Given the description of an element on the screen output the (x, y) to click on. 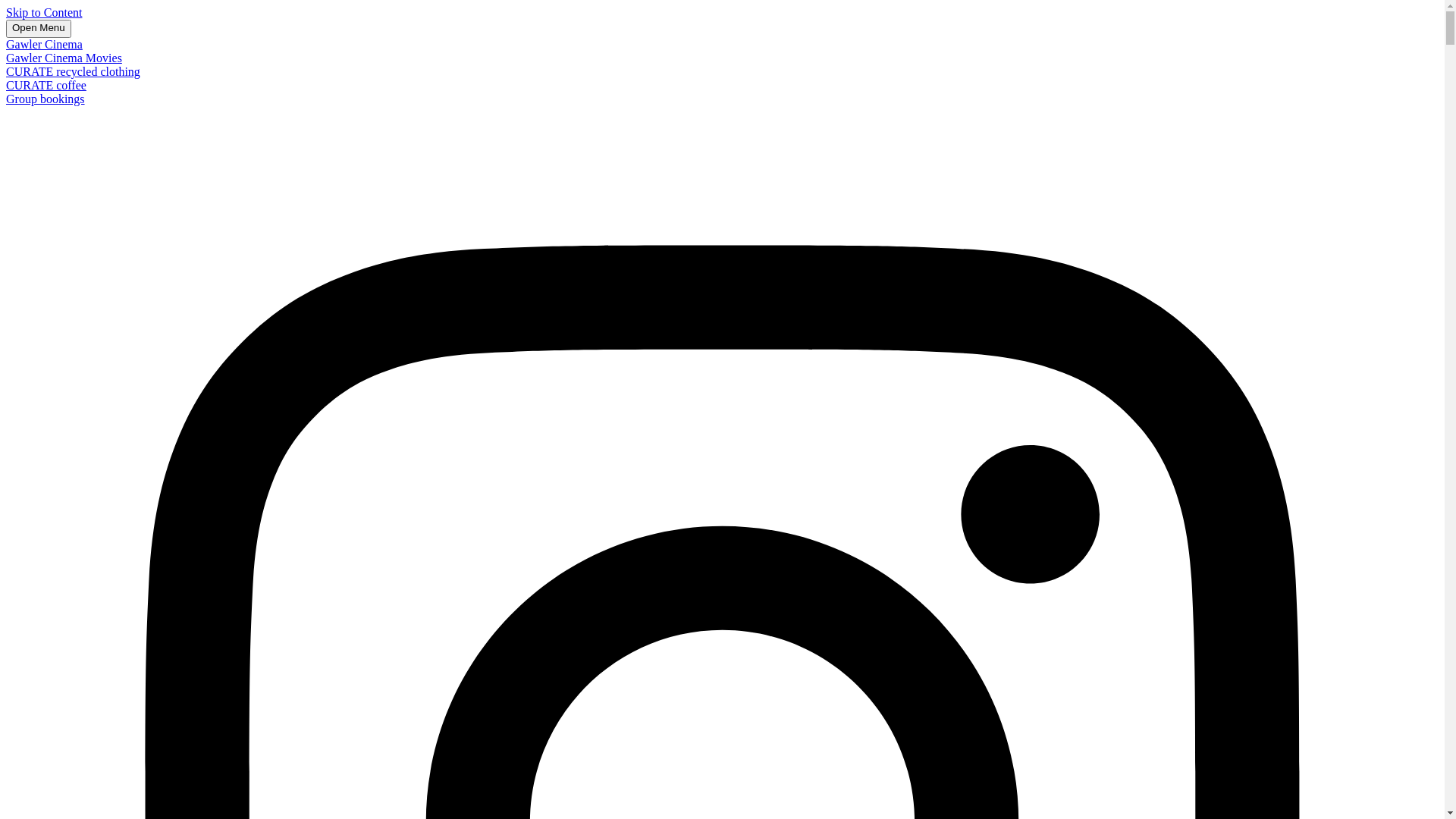
CURATE coffee Element type: text (46, 84)
Skip to Content Element type: text (43, 12)
Gawler Cinema Movies Element type: text (64, 57)
Group bookings Element type: text (45, 98)
Gawler Cinema Element type: text (44, 43)
CURATE recycled clothing Element type: text (73, 71)
Open Menu Element type: text (38, 28)
